Given the description of an element on the screen output the (x, y) to click on. 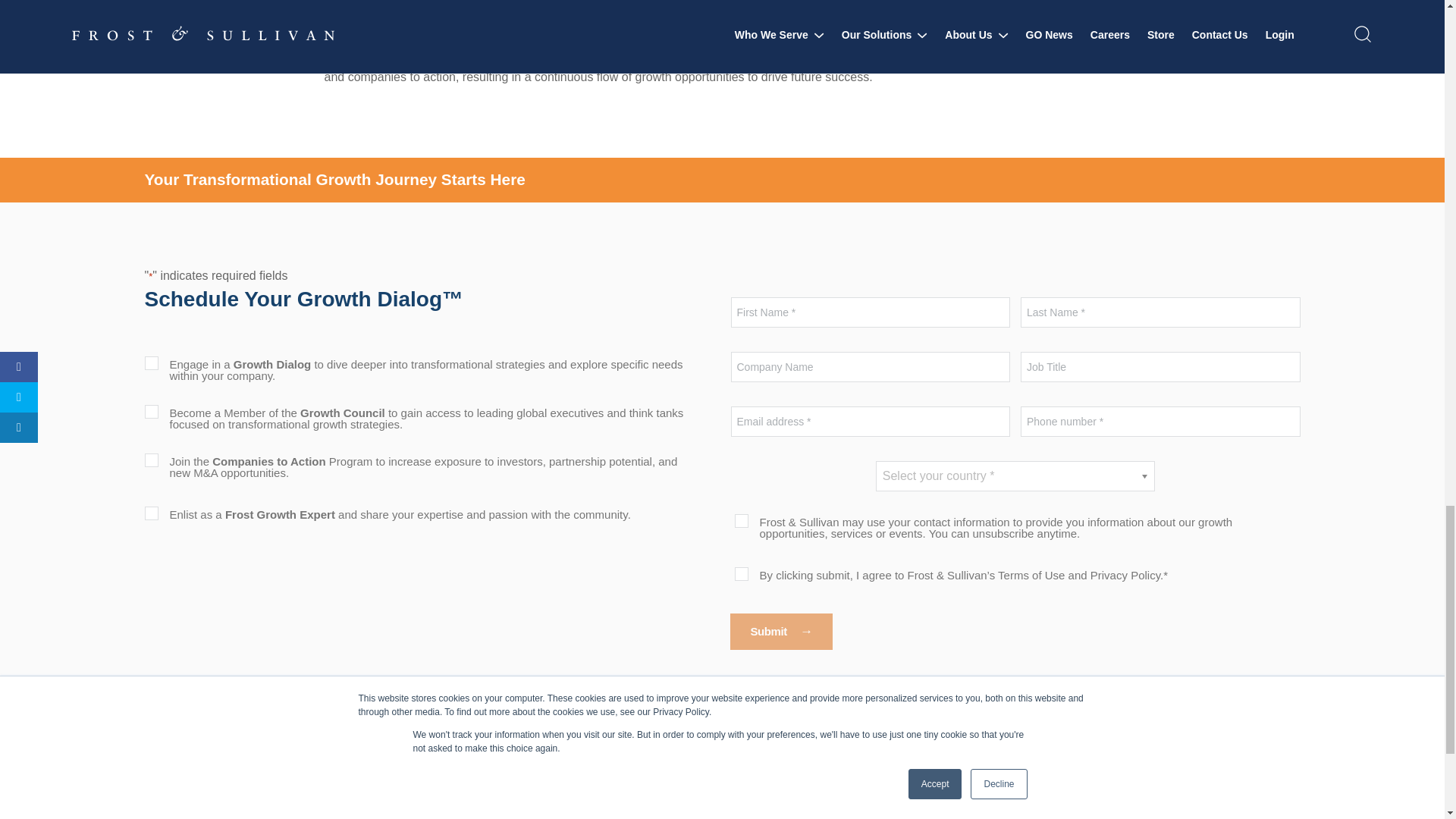
frostsullivanlogo (223, 778)
